Given the description of an element on the screen output the (x, y) to click on. 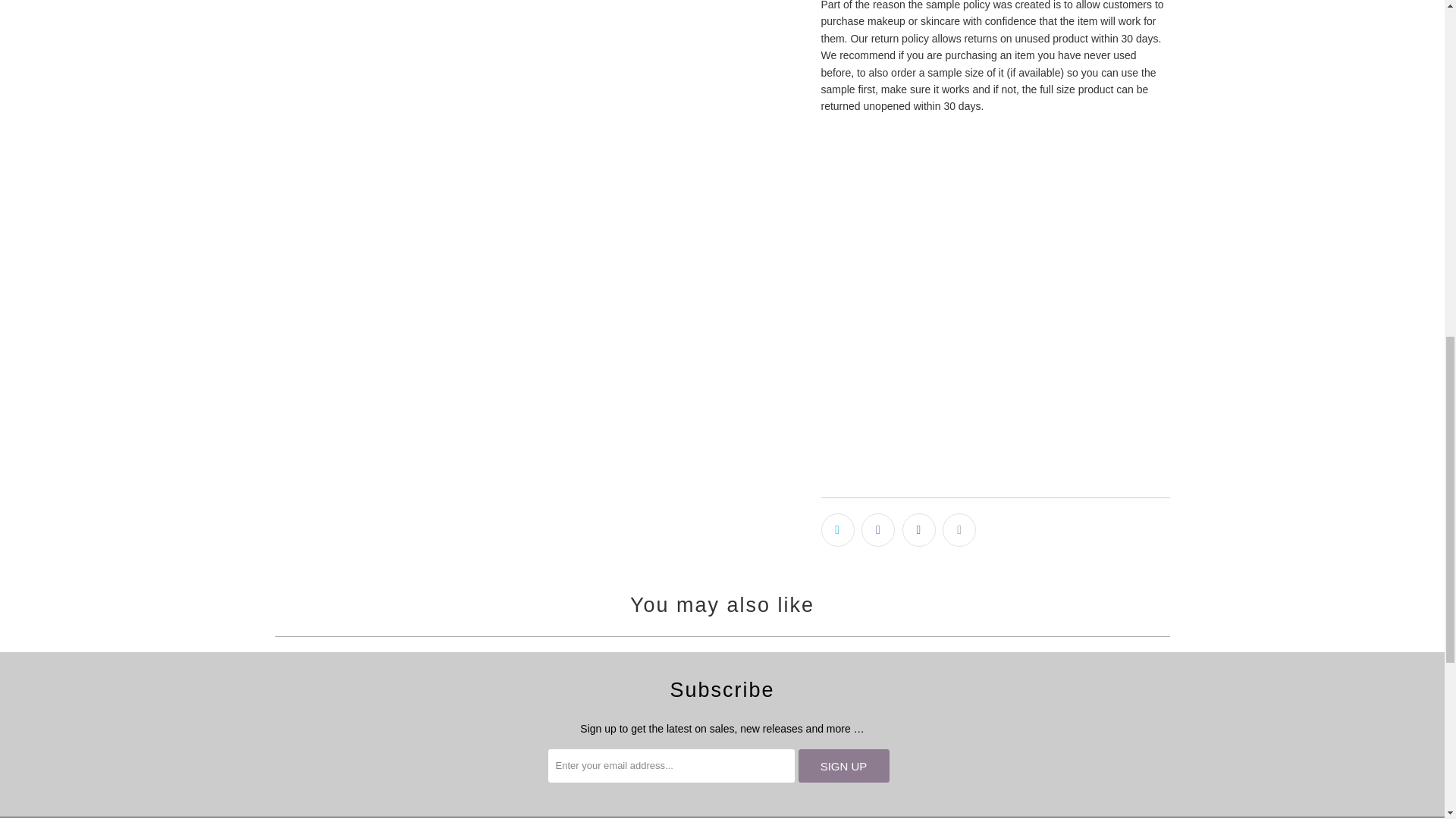
Share this on Pinterest (919, 530)
Email this to a friend (958, 530)
Sign Up (842, 765)
Share this on Facebook (878, 530)
Share this on Twitter (837, 530)
